Given the description of an element on the screen output the (x, y) to click on. 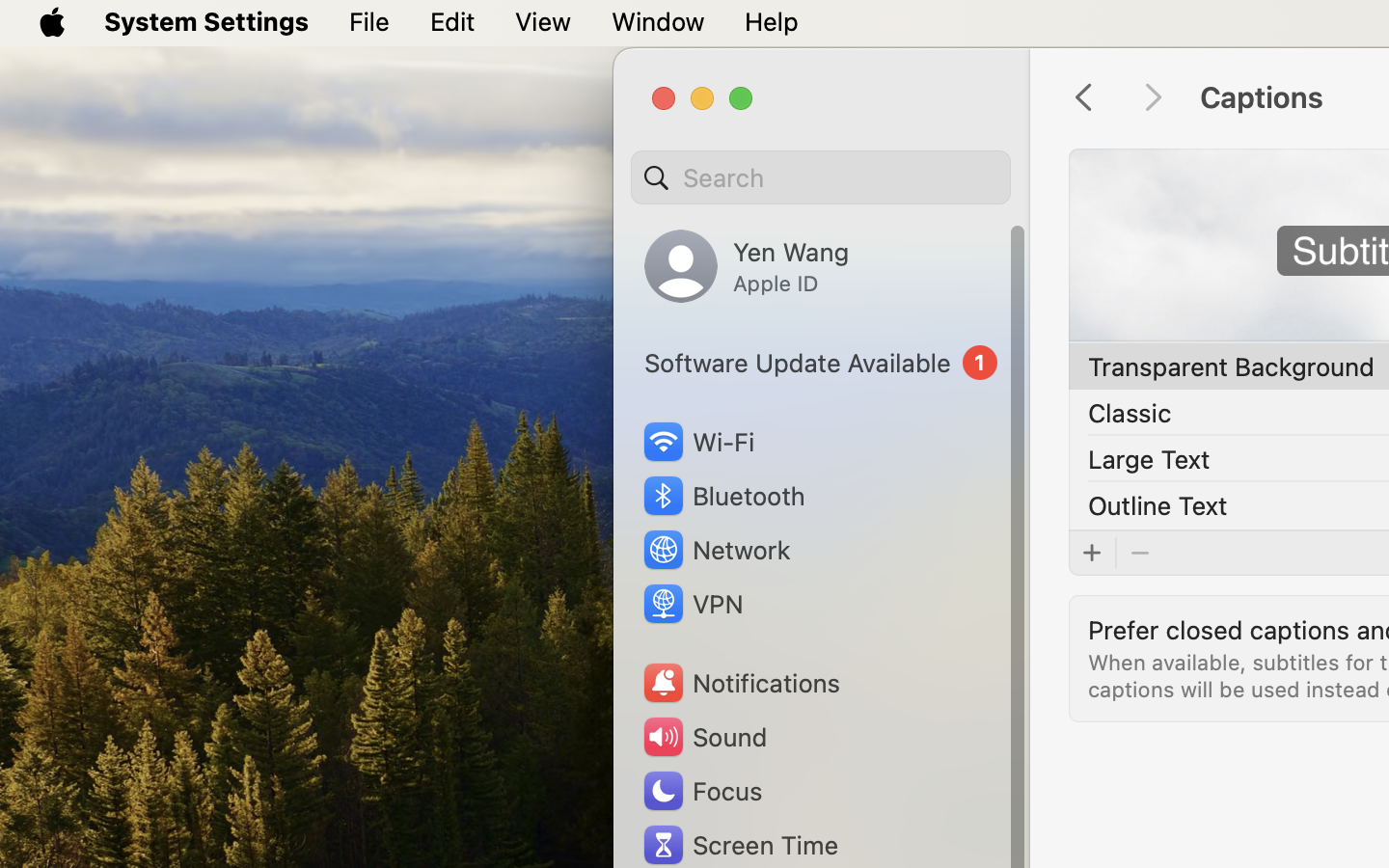
Classic Element type: AXStaticText (1129, 412)
Outline Text Element type: AXStaticText (1157, 504)
1 Element type: AXStaticText (820, 362)
VPN Element type: AXStaticText (691, 603)
Screen Time Element type: AXStaticText (739, 844)
